Given the description of an element on the screen output the (x, y) to click on. 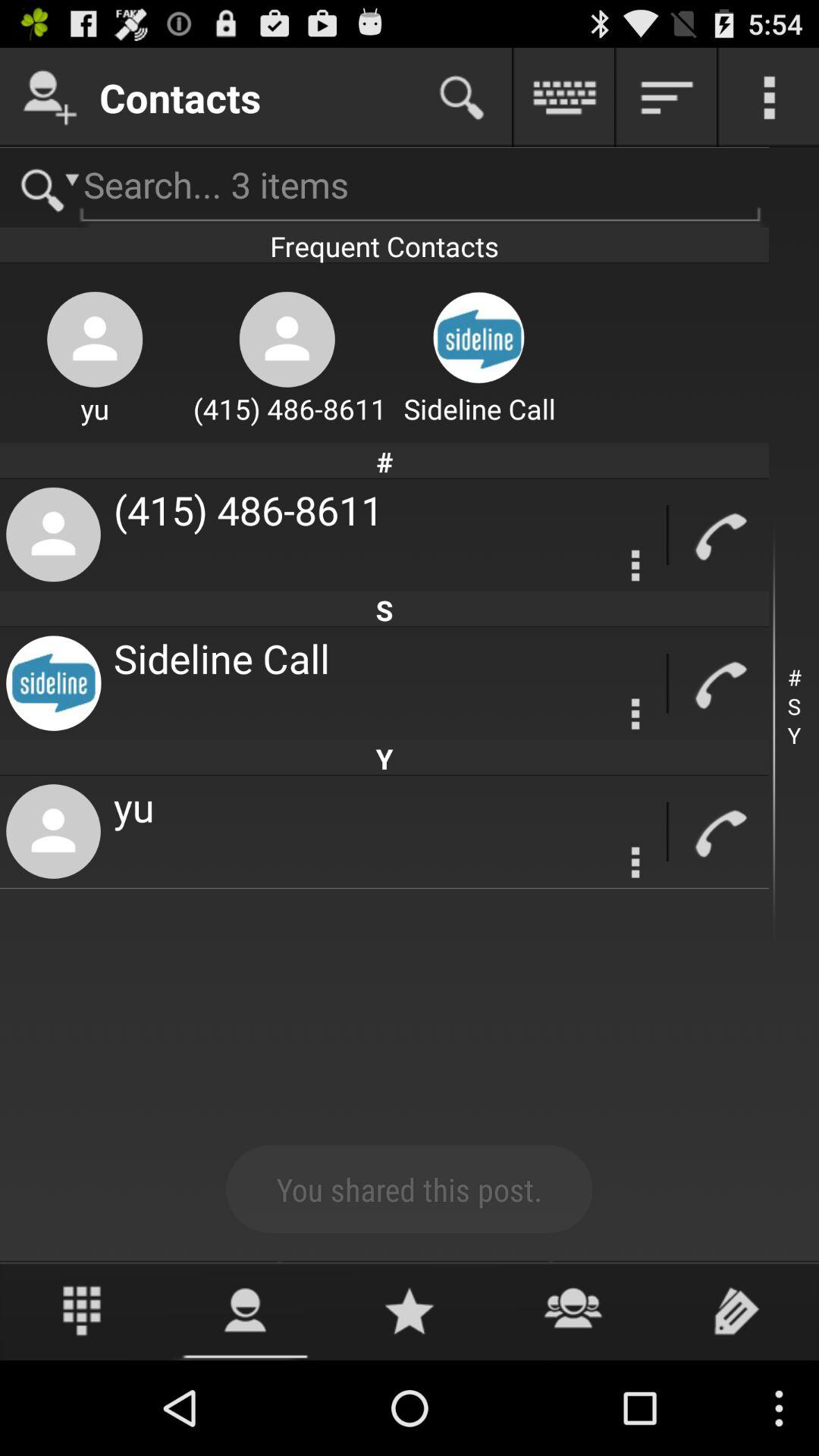
show all info (666, 97)
